Given the description of an element on the screen output the (x, y) to click on. 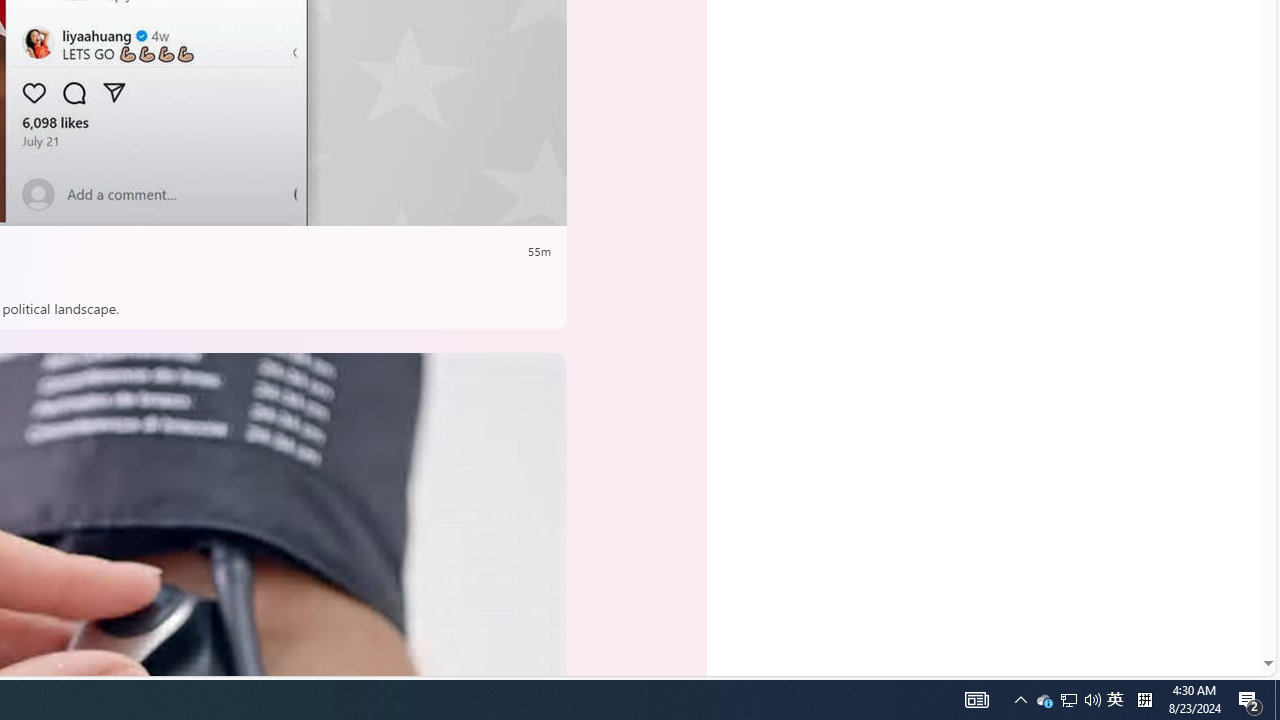
Captions (457, 203)
Quality Settings (418, 203)
Unmute (535, 203)
Fullscreen (497, 203)
